Given the description of an element on the screen output the (x, y) to click on. 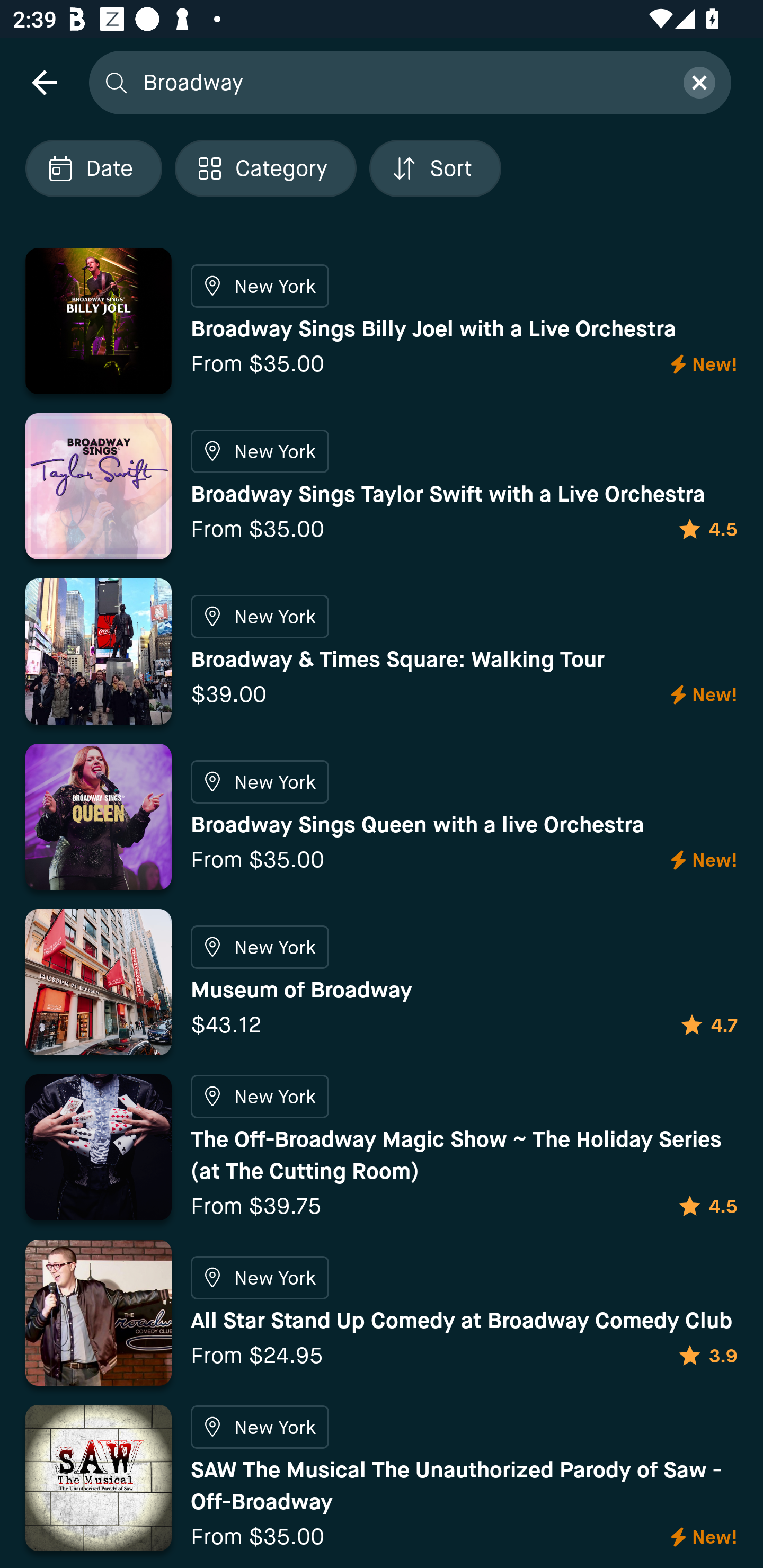
navigation icon (44, 81)
Broadway (402, 81)
Localized description Date (93, 168)
Localized description Category (265, 168)
Localized description Sort (435, 168)
